Given the description of an element on the screen output the (x, y) to click on. 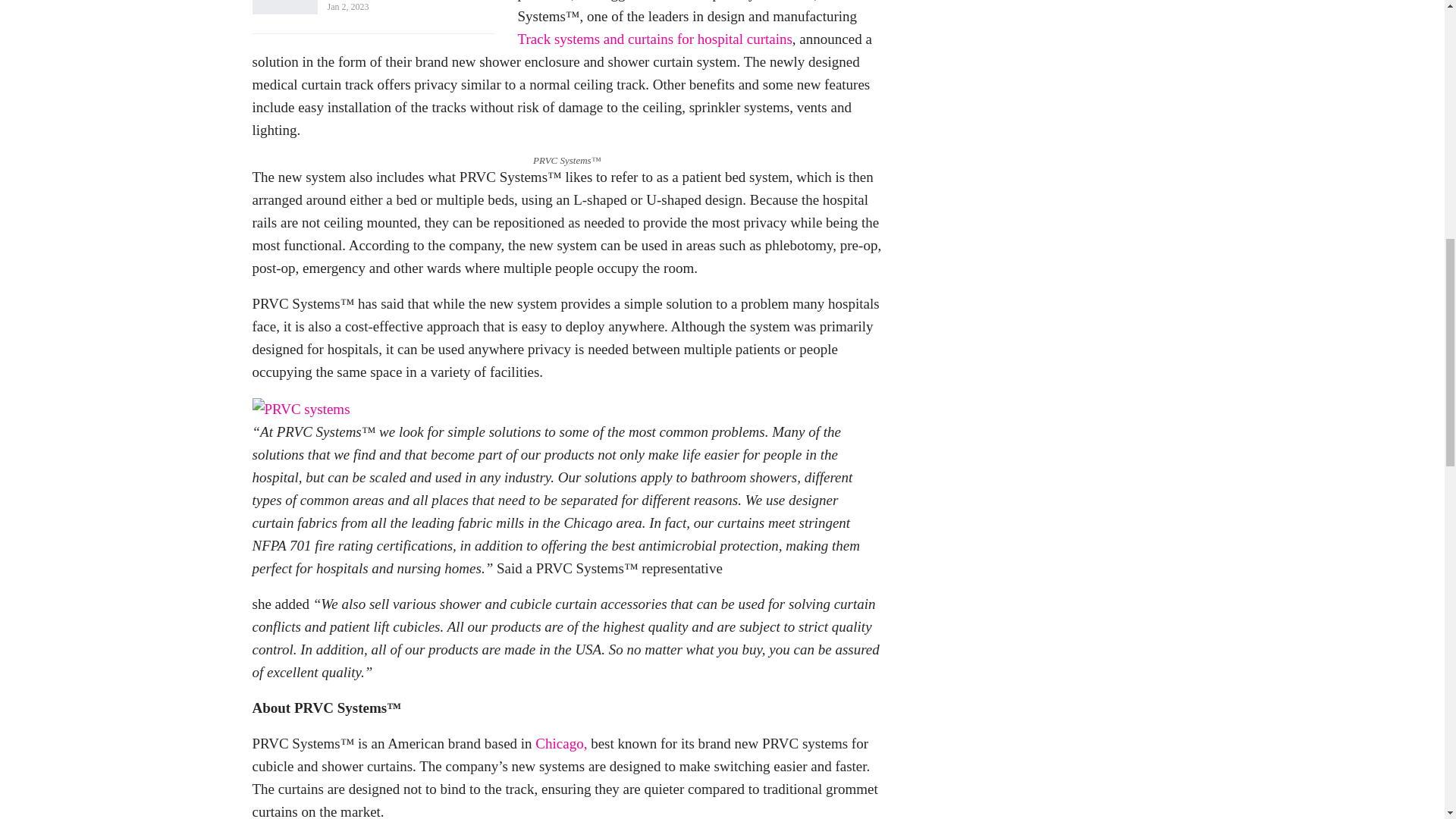
Track systems and curtains for hospital curtains (654, 38)
Prices For Construction Differ Based On Many Factors (284, 7)
